Given the description of an element on the screen output the (x, y) to click on. 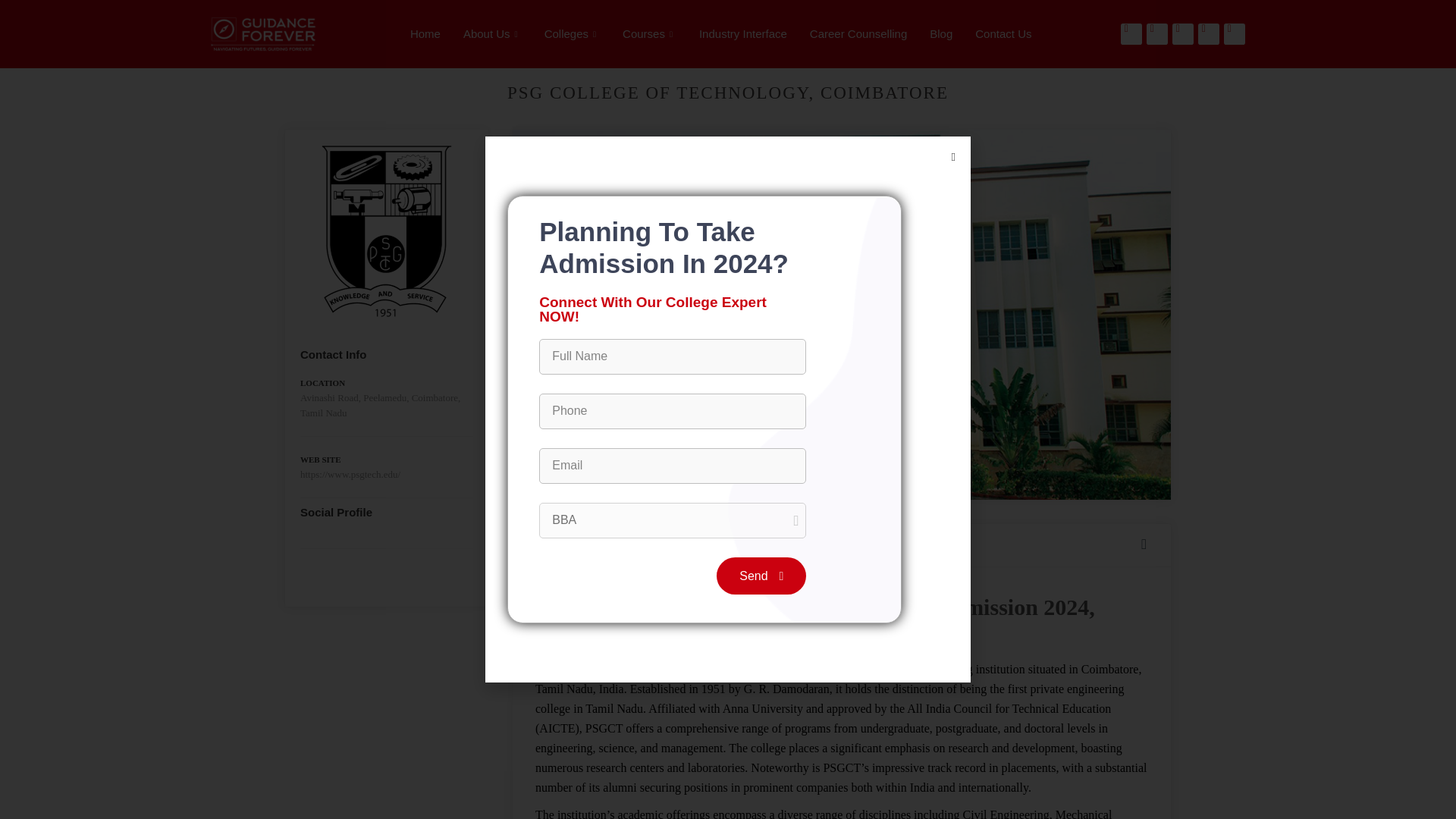
Home (424, 33)
Colleges (571, 33)
Add to Favorites (1146, 544)
About Us (491, 33)
Courses (649, 33)
